Given the description of an element on the screen output the (x, y) to click on. 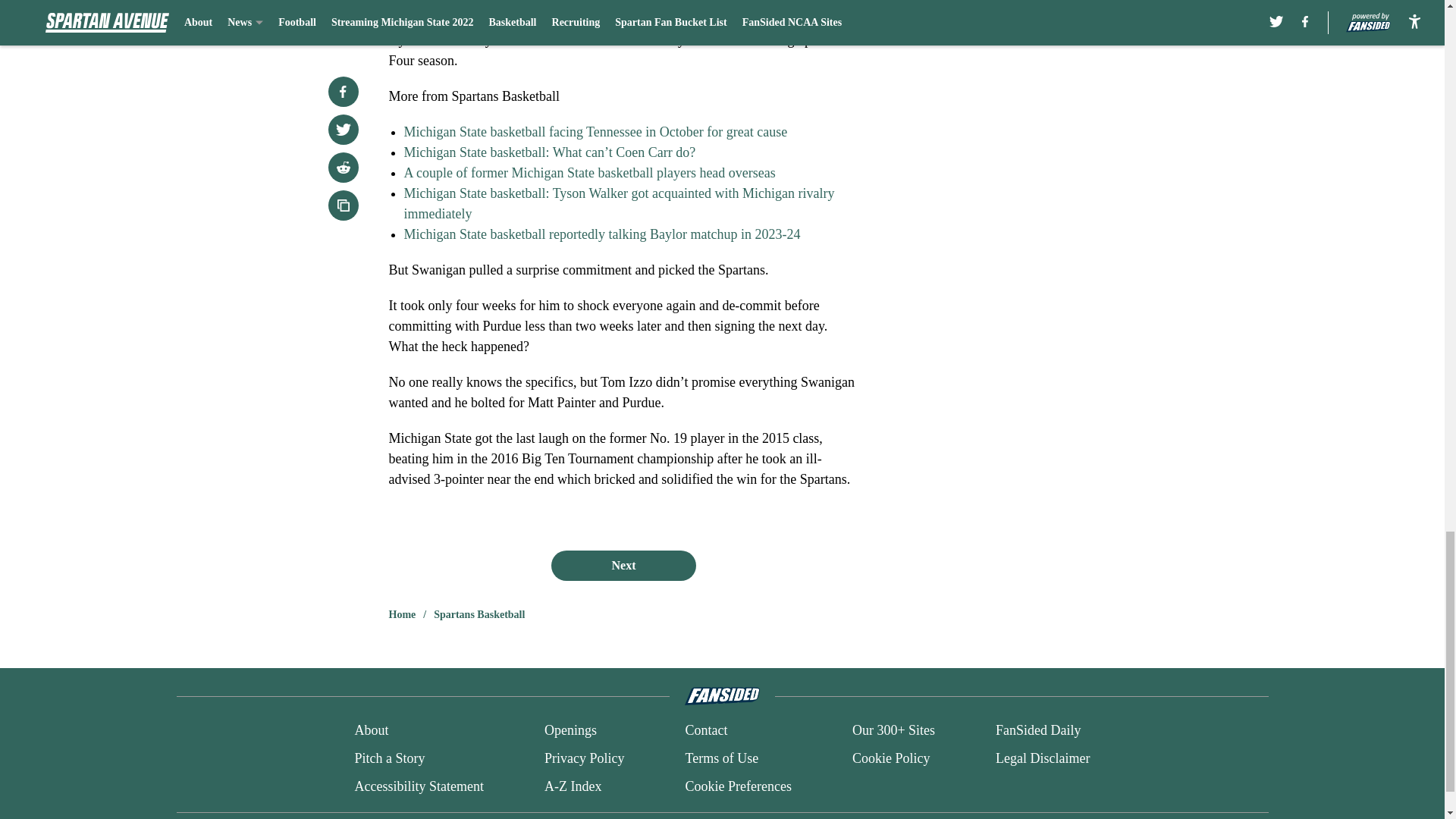
Home (401, 614)
About (370, 730)
Spartans Basketball (478, 614)
Next (622, 565)
Openings (570, 730)
